Given the description of an element on the screen output the (x, y) to click on. 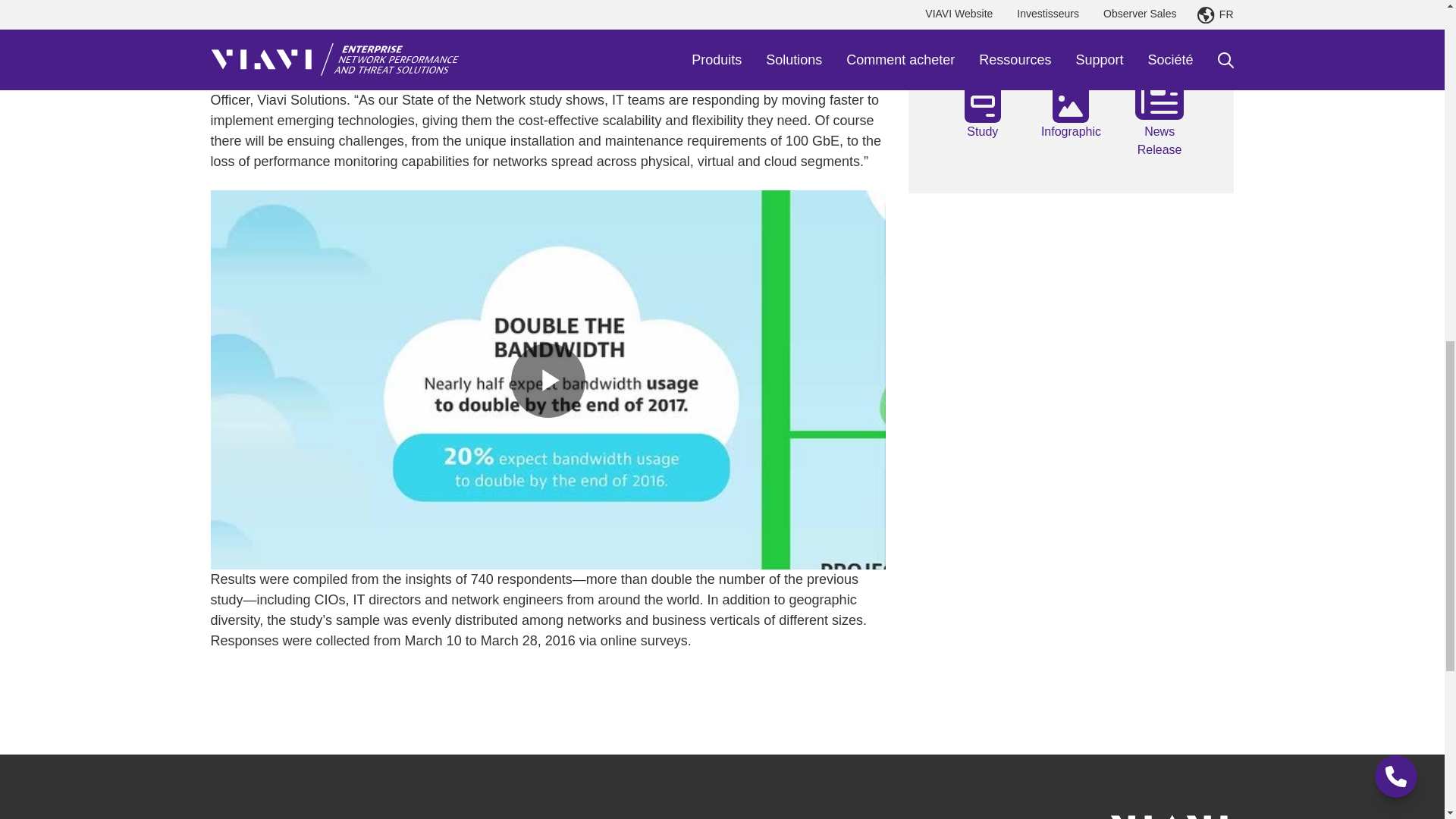
2016 State of the Network Infographic (1070, 131)
2016 State of the Network Study (981, 131)
2016 State of the Network Infographic (1070, 98)
2016 State of the Network Study (981, 98)
